Given the description of an element on the screen output the (x, y) to click on. 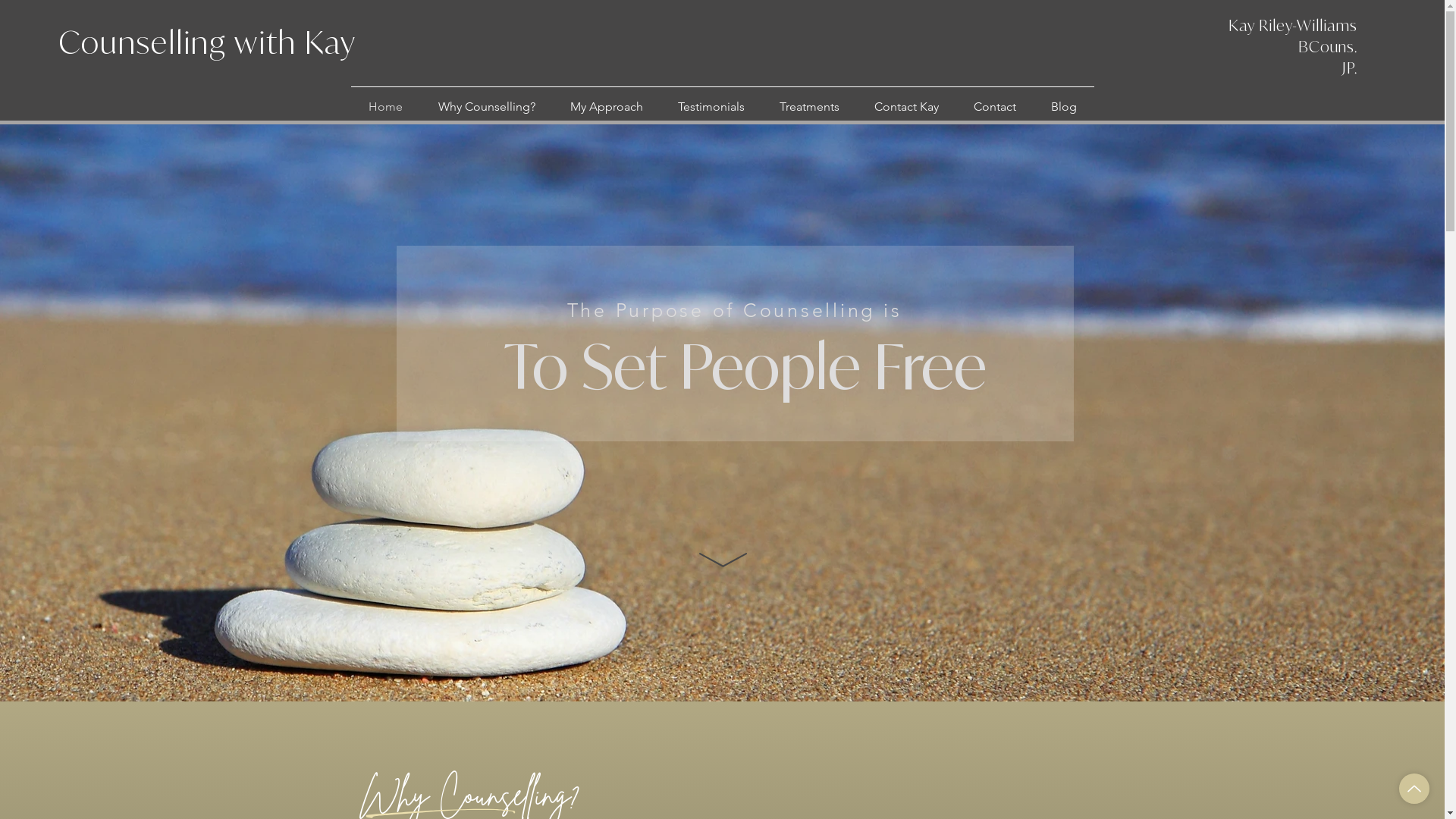
BCouns. Element type: text (1327, 46)
Home Element type: text (385, 106)
Kay Riley-Williams Element type: text (1292, 24)
Contact Kay Element type: text (906, 106)
Treatments Element type: text (808, 106)
Blog Element type: text (1062, 106)
Why Counselling? Element type: text (486, 106)
Testimonials Element type: text (710, 106)
My Approach Element type: text (605, 106)
Counselling with Kay Element type: text (207, 42)
JP. Element type: text (1349, 67)
Contact Element type: text (993, 106)
